Given the description of an element on the screen output the (x, y) to click on. 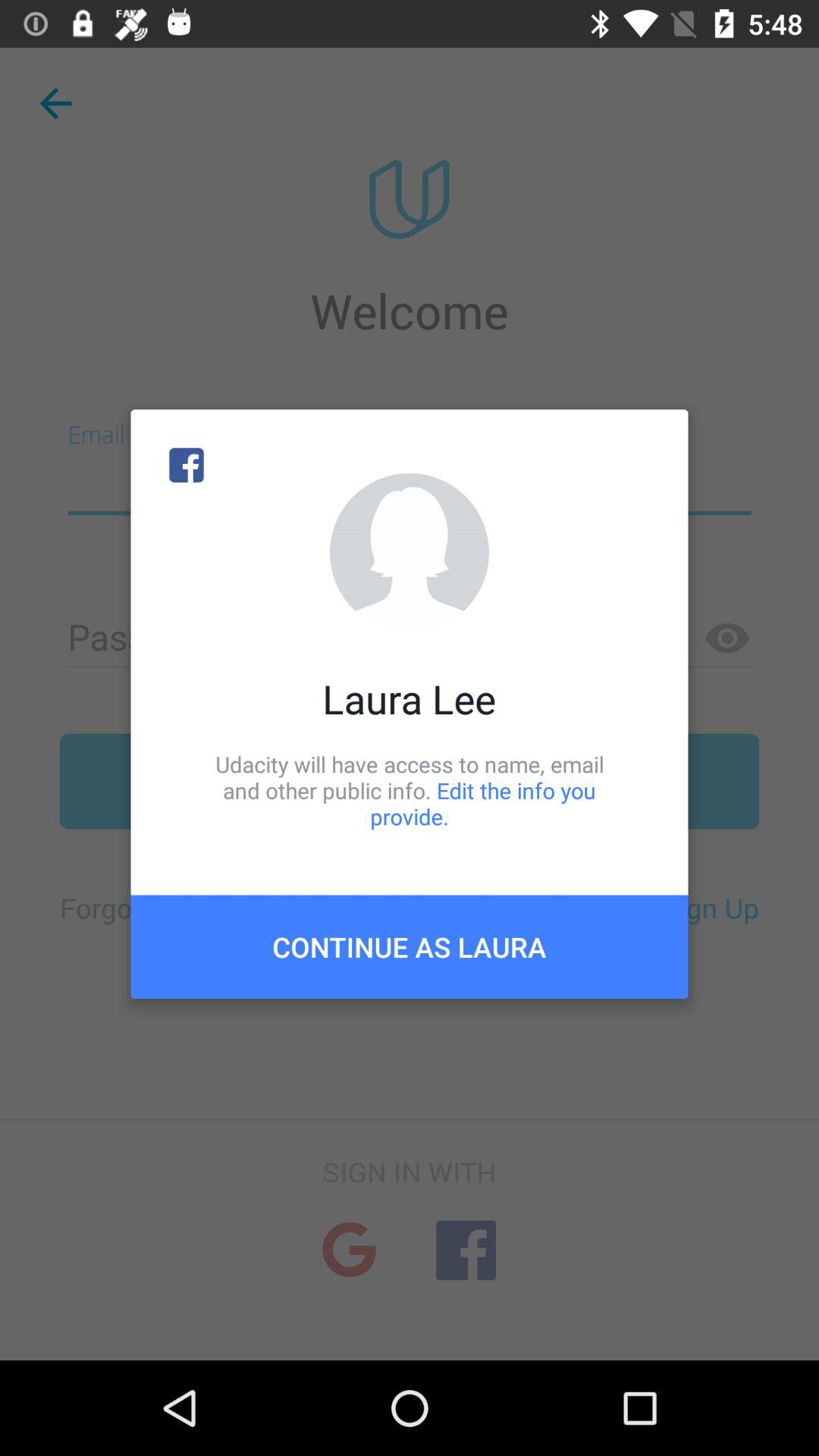
open icon below udacity will have item (409, 946)
